Given the description of an element on the screen output the (x, y) to click on. 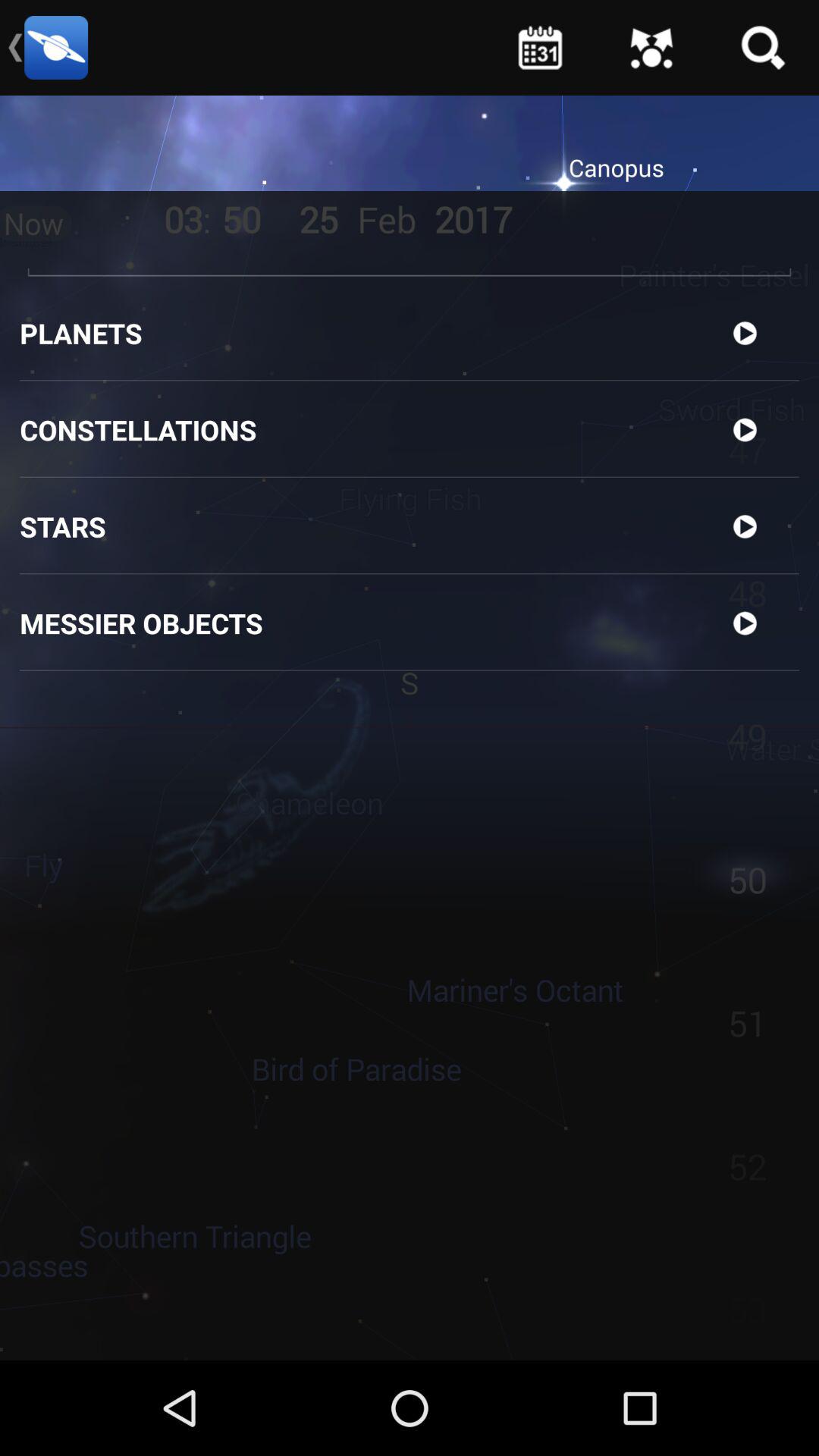
click on the button which is next to the planets (745, 338)
